Given the description of an element on the screen output the (x, y) to click on. 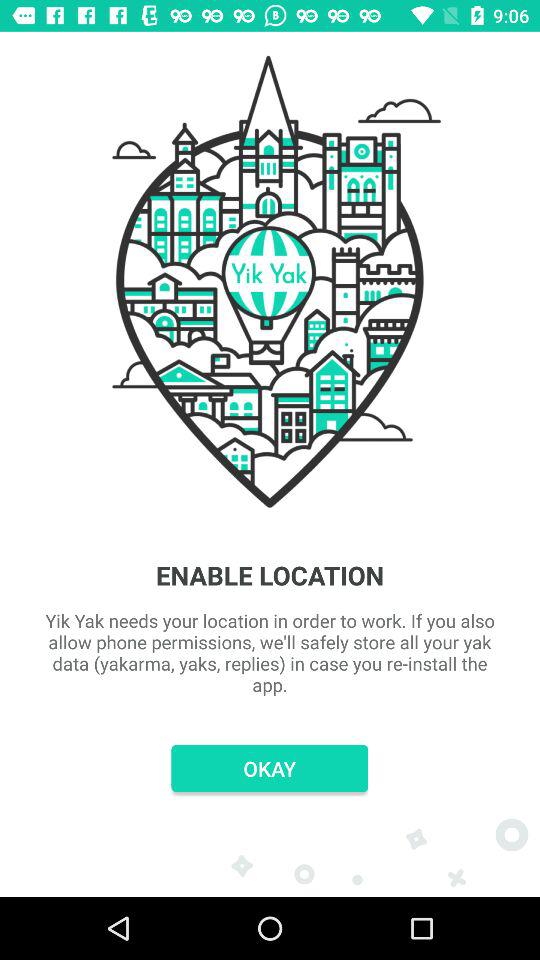
jump until okay (269, 767)
